Given the description of an element on the screen output the (x, y) to click on. 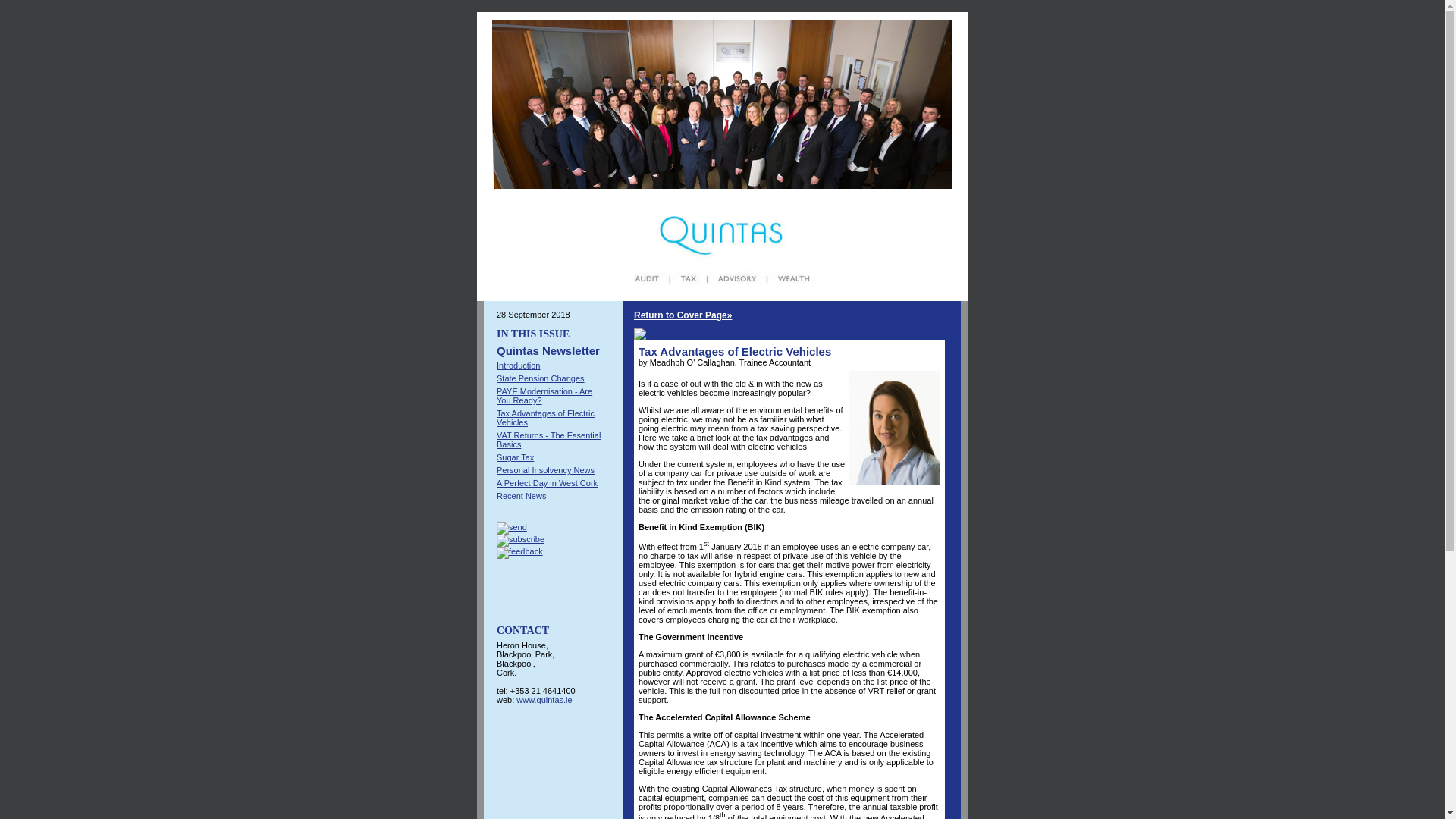
Sugar Tax (515, 456)
VAT Returns - The Essential Basics (547, 439)
Tax Advantages of Electric Vehicles (545, 417)
www.quintas.ie (544, 699)
A Perfect Day in West Cork (546, 482)
PAYE Modernisation - Are You Ready? (544, 395)
State Pension Changes (540, 378)
Introduction (518, 365)
Recent News (521, 495)
Personal Insolvency News (545, 470)
